Given the description of an element on the screen output the (x, y) to click on. 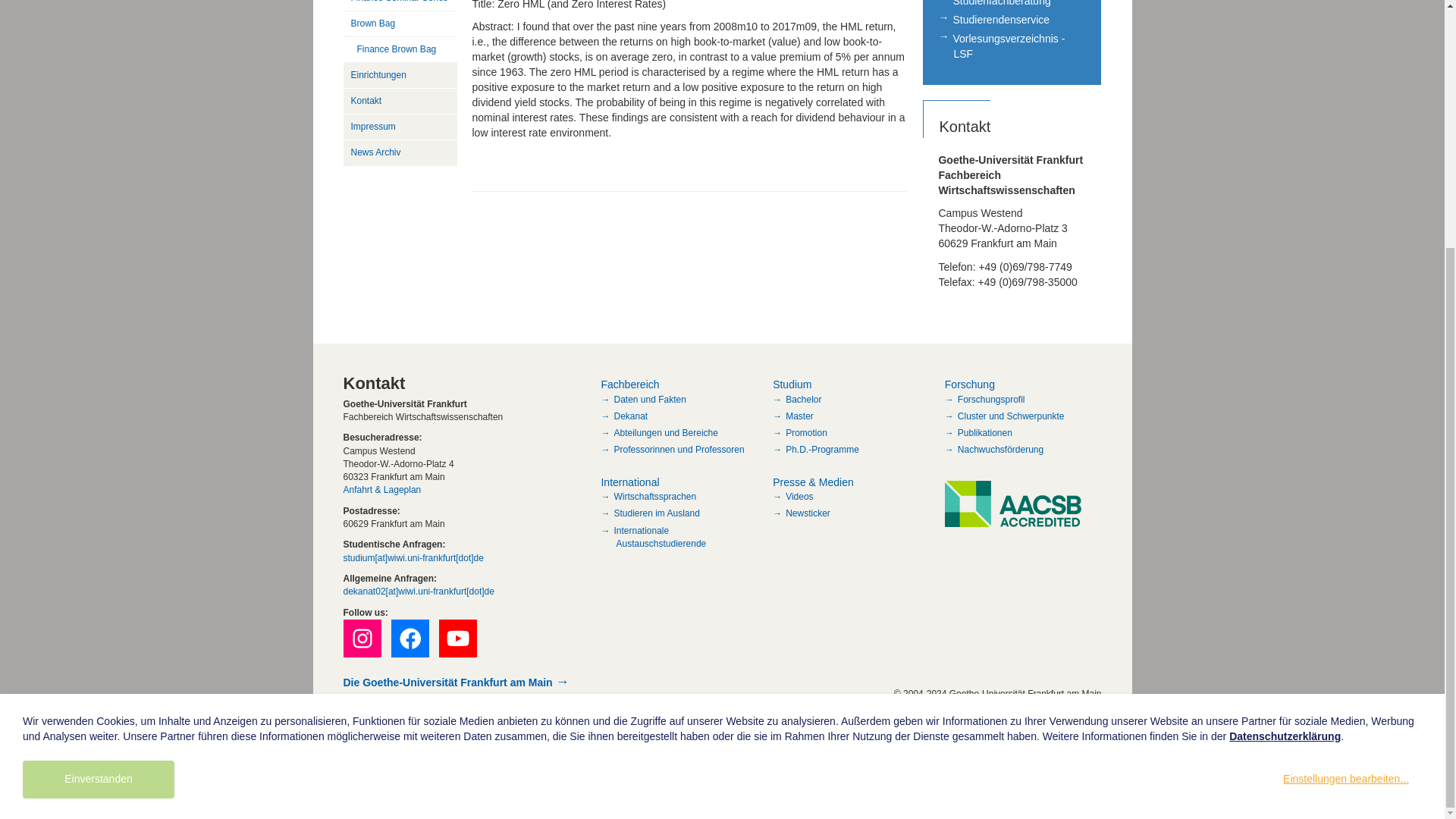
Einrichtungen (399, 75)
Finance Brown Bag (399, 49)
Impressum (399, 127)
Finance Seminar Series (399, 5)
Brown Bag (399, 23)
Kontakt (399, 101)
